Given the description of an element on the screen output the (x, y) to click on. 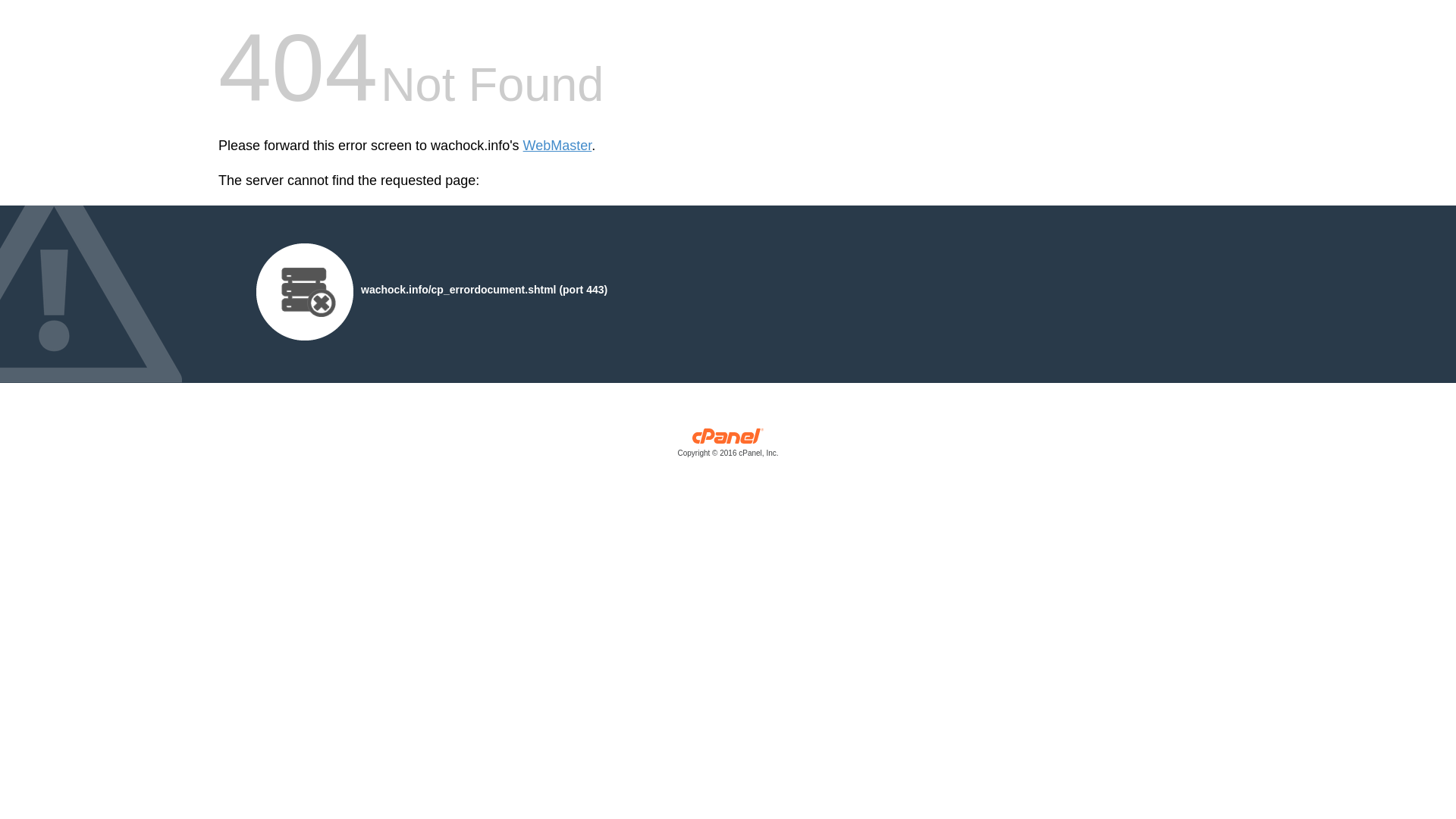
WebMaster (557, 145)
cPanel, Inc. (727, 446)
